Given the description of an element on the screen output the (x, y) to click on. 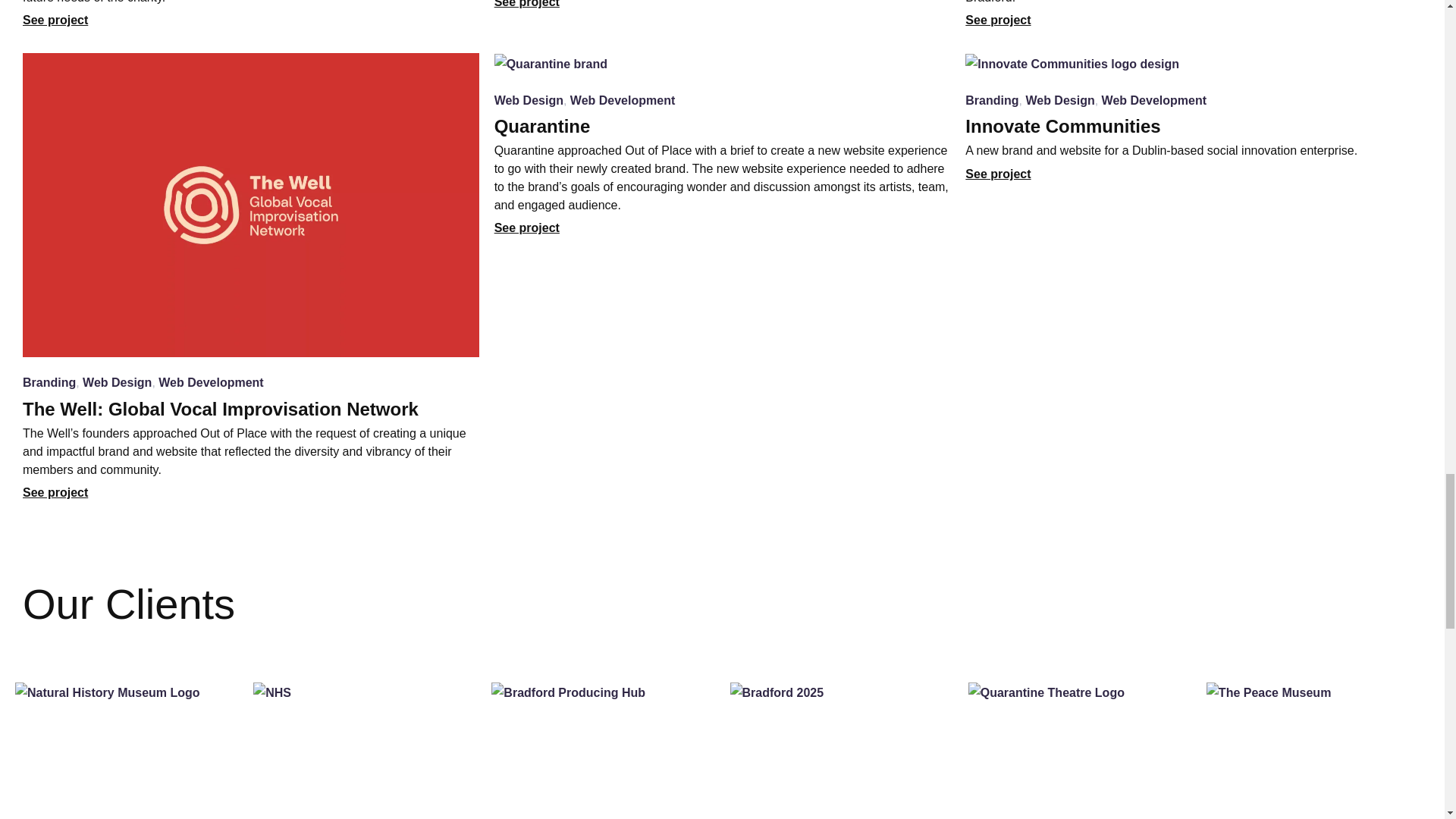
Innovate Communities logo design (1072, 64)
See project (55, 19)
Quarantine brand (551, 64)
